Given the description of an element on the screen output the (x, y) to click on. 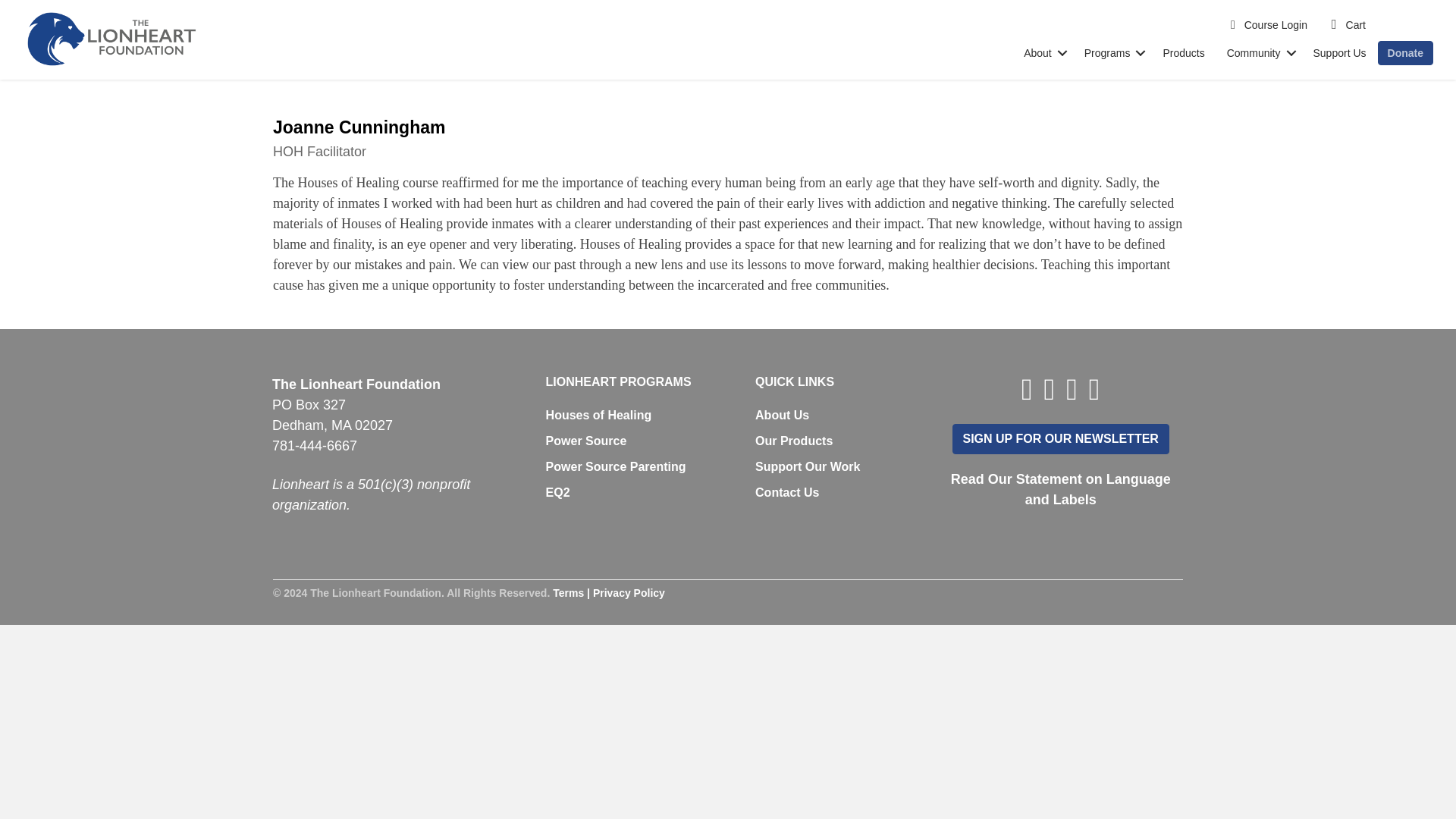
Read Our Statement on Language and Labels (1060, 488)
Power Source Parenting (615, 466)
Cart (1348, 24)
EQ2 (558, 492)
Course Login (1268, 24)
Programs (1112, 52)
lionheart logo-no background (110, 39)
About Us (782, 414)
SIGN UP FOR OUR NEWSLETTER (1060, 439)
Houses of Healing (599, 414)
Community (1258, 52)
Terms (568, 592)
Products (1182, 52)
Power Source (586, 440)
Privacy Policy (628, 592)
